Given the description of an element on the screen output the (x, y) to click on. 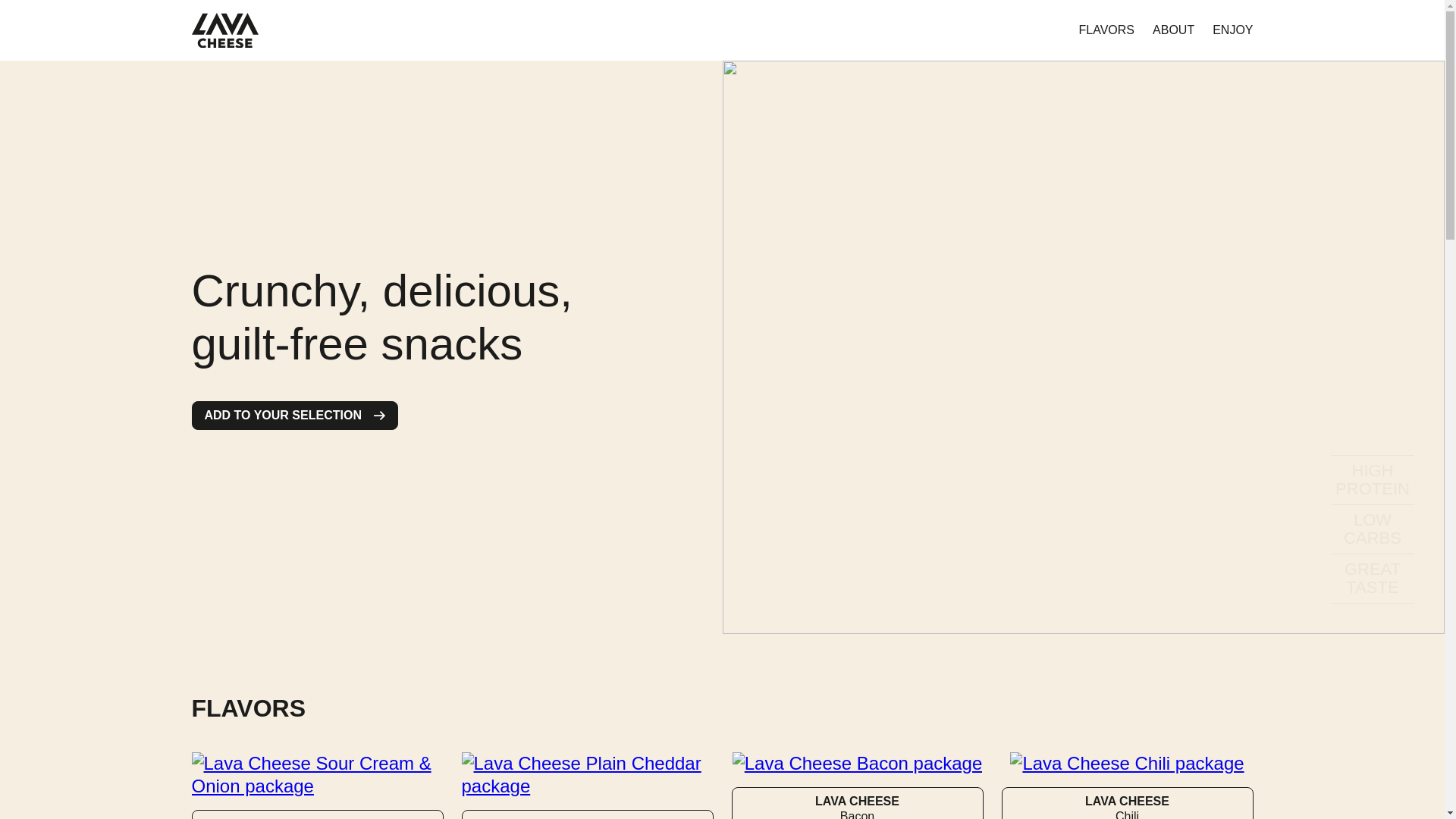
ADD TO YOUR SELECTION (1126, 803)
ENJOY (293, 415)
FLAVORS (1232, 29)
ABOUT (1106, 29)
